Given the description of an element on the screen output the (x, y) to click on. 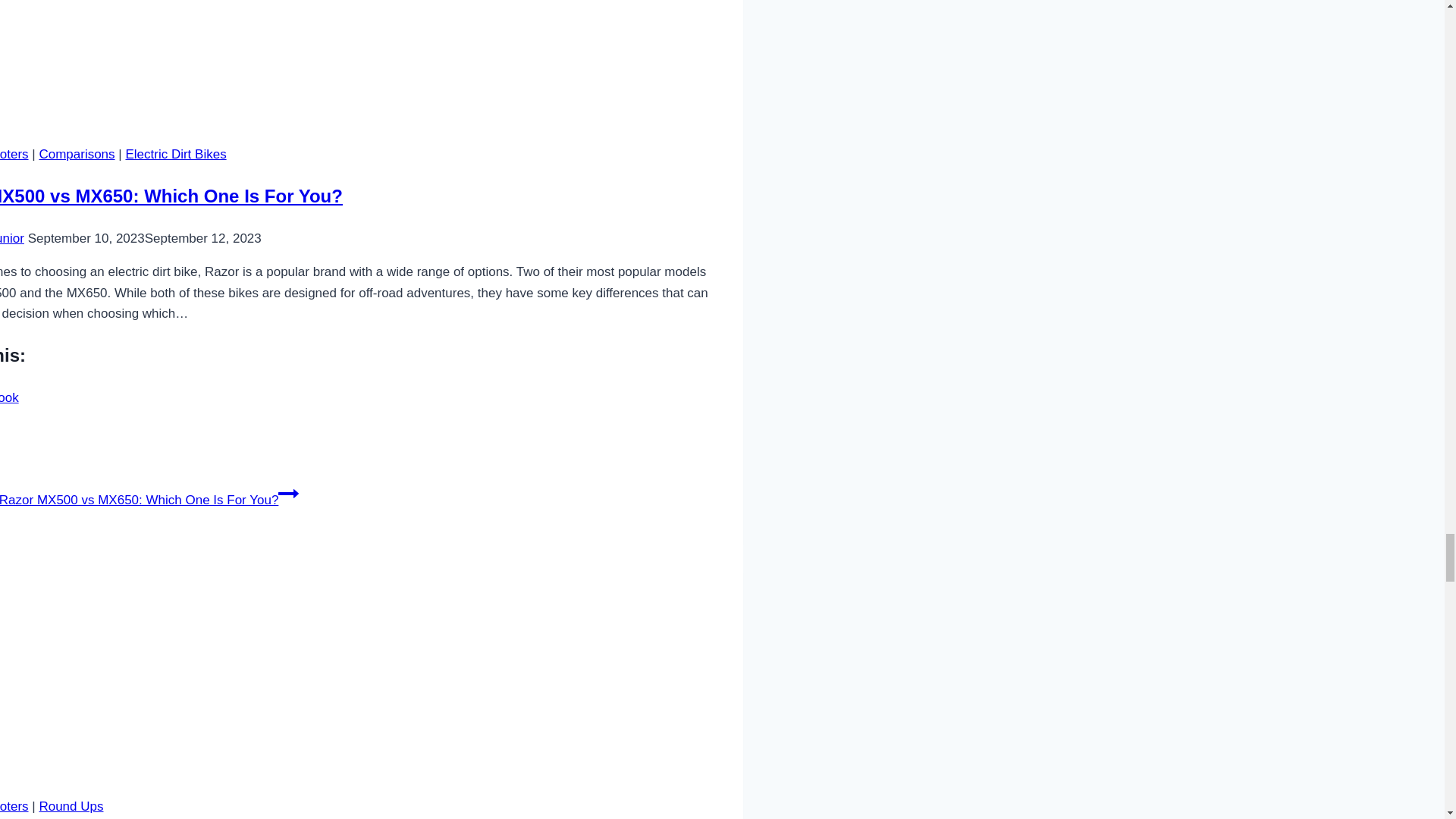
Click to share on Facebook (9, 397)
Continue (288, 493)
